Given the description of an element on the screen output the (x, y) to click on. 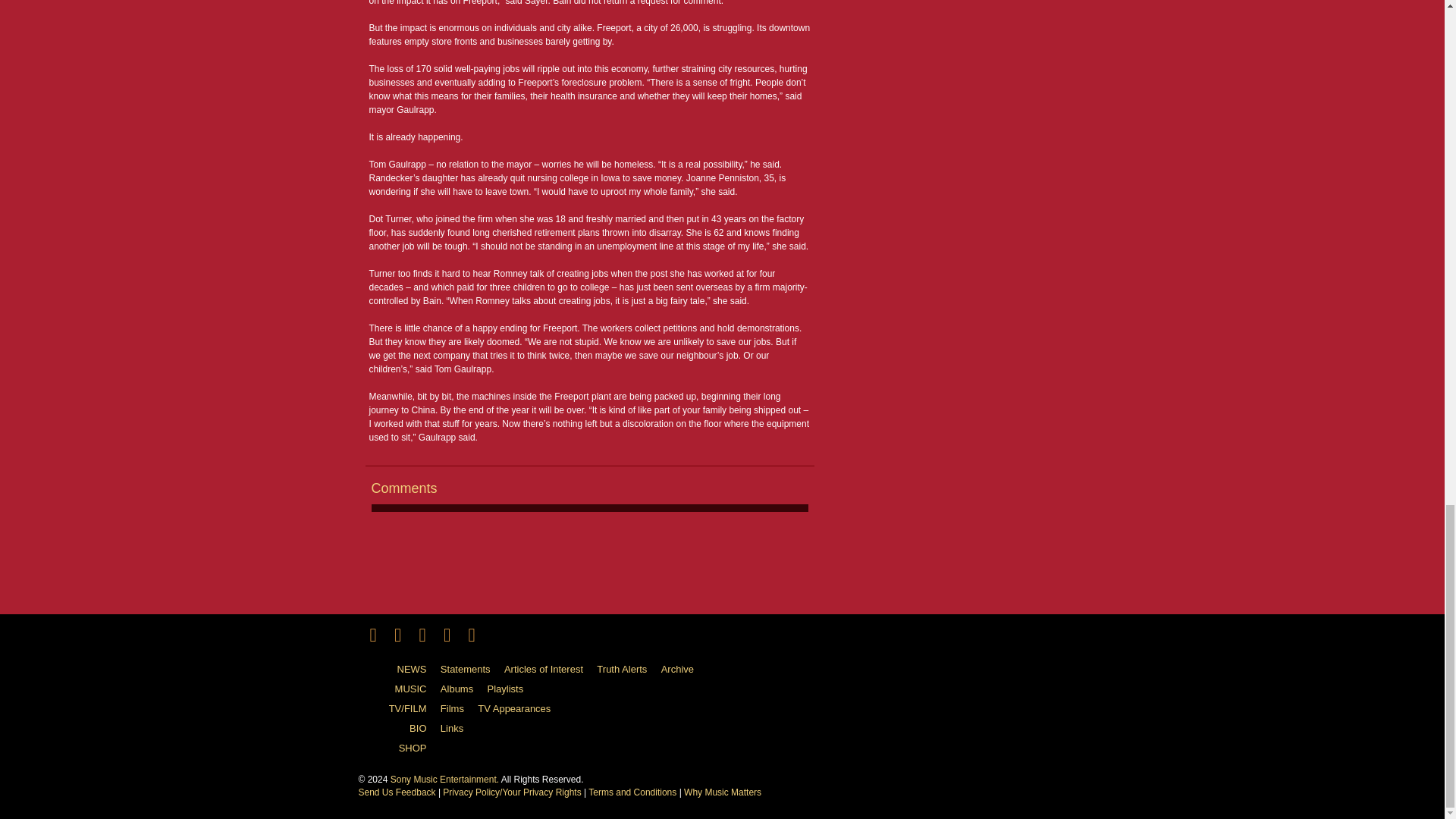
Articles of Interest (548, 669)
Archive (682, 669)
Playlists (511, 689)
Albums (462, 689)
NEWS (398, 669)
Truth Alerts (627, 669)
Statements (471, 669)
MUSIC (398, 689)
